Given the description of an element on the screen output the (x, y) to click on. 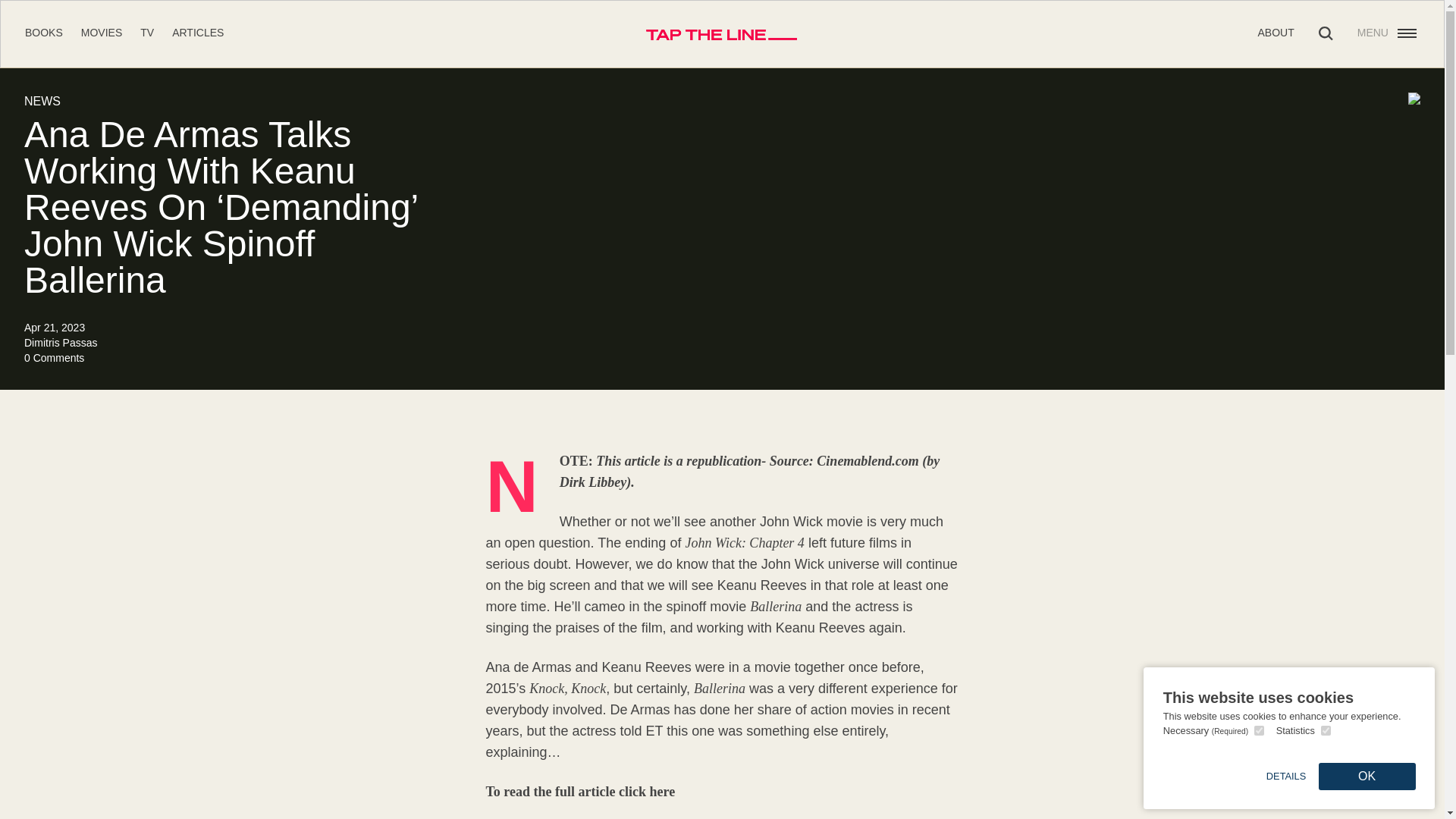
on (1325, 730)
Cinemablend.com (867, 460)
ABOUT (1275, 32)
on (1258, 730)
cameo in the spinoff movie Ballerina (693, 606)
here (662, 791)
ET (654, 730)
MOVIES (101, 32)
ARTICLES (197, 32)
0 Comments (54, 357)
TV (146, 32)
ending of John Wick: Chapter 4 (714, 542)
MENU (1387, 33)
BOOKS (43, 32)
